Given the description of an element on the screen output the (x, y) to click on. 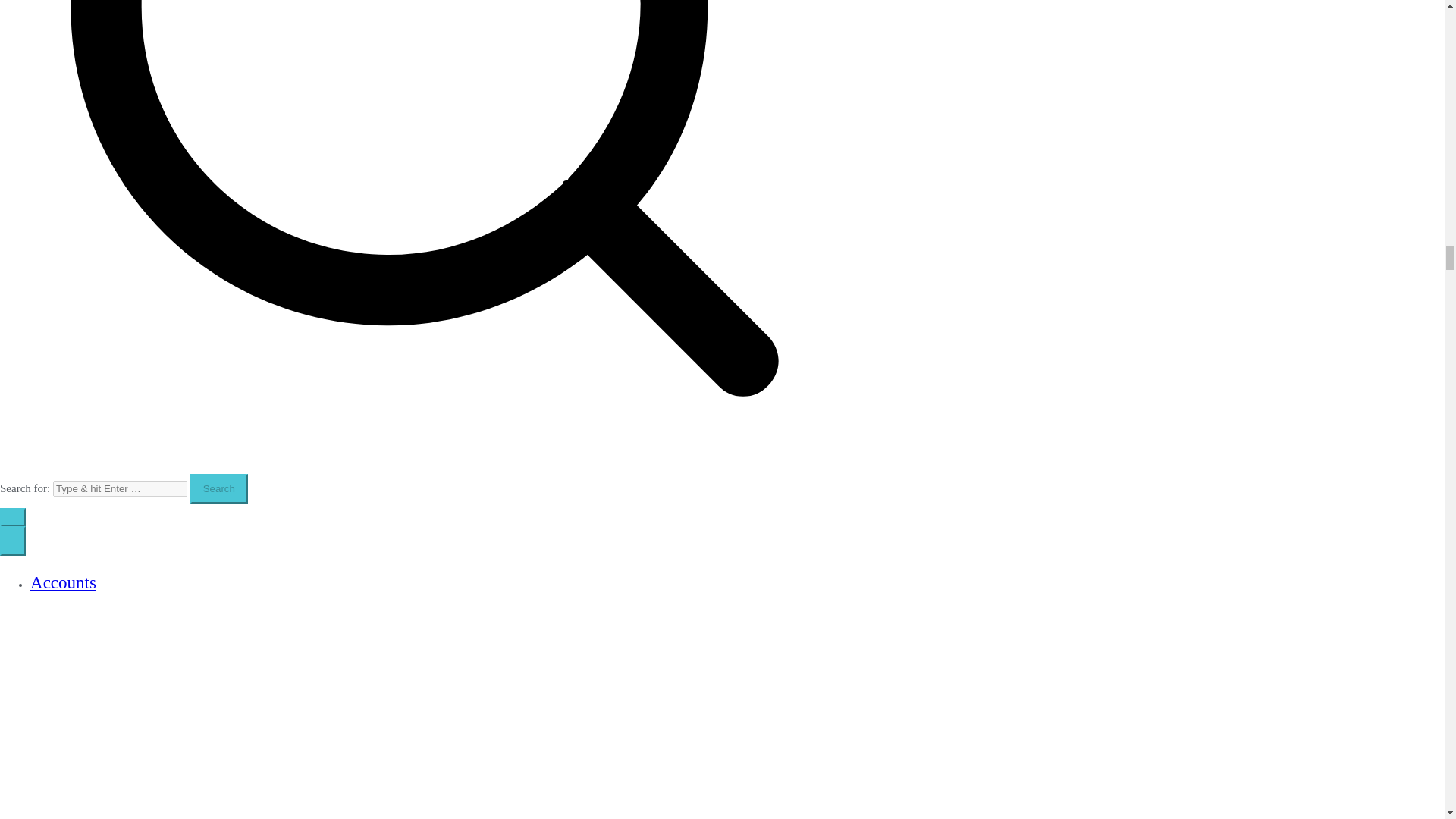
Search (218, 488)
Search (218, 488)
Search for: (119, 488)
